Given the description of an element on the screen output the (x, y) to click on. 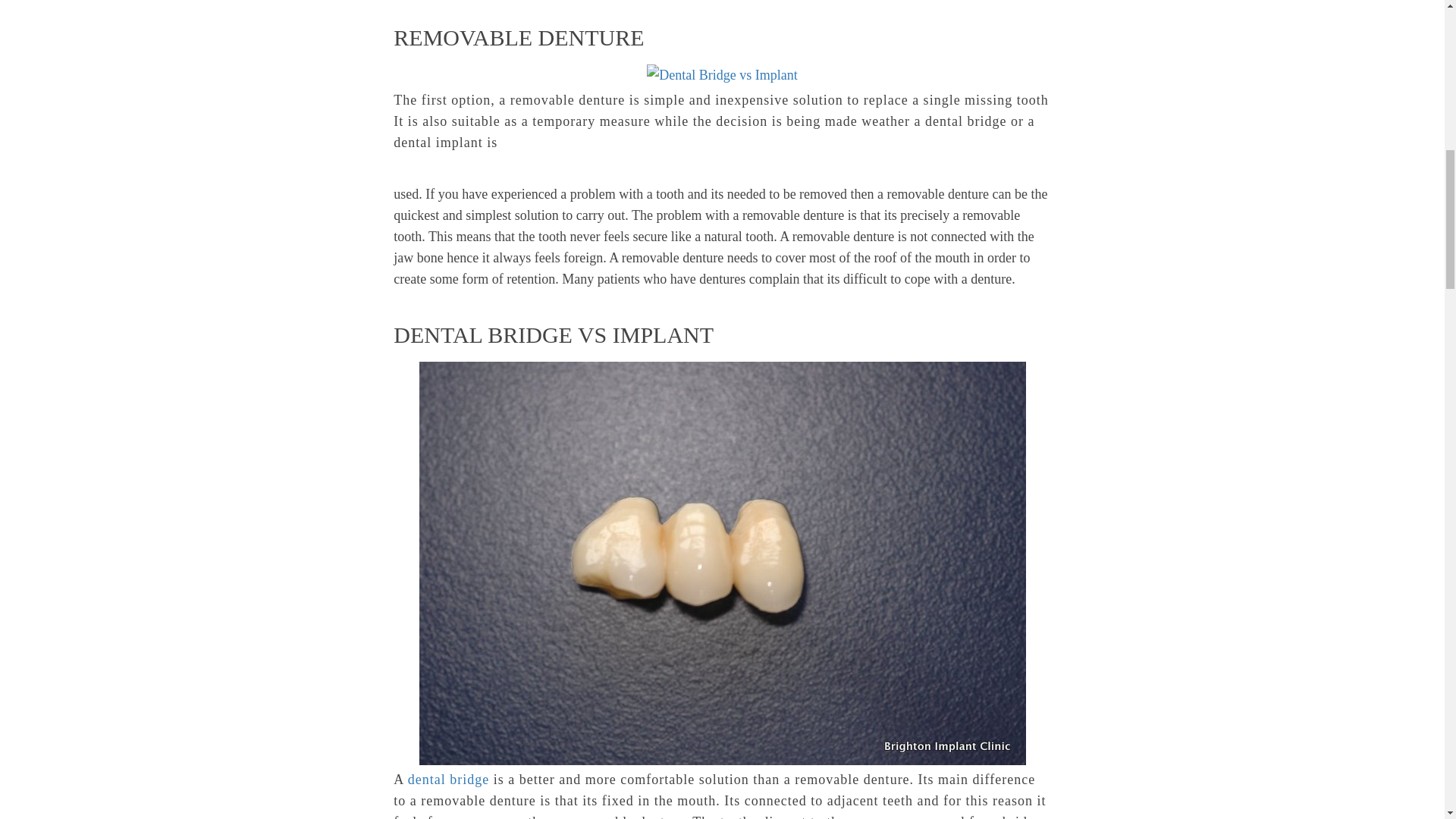
removable denture lower jaw (721, 74)
Dental Bridge (448, 779)
